Given the description of an element on the screen output the (x, y) to click on. 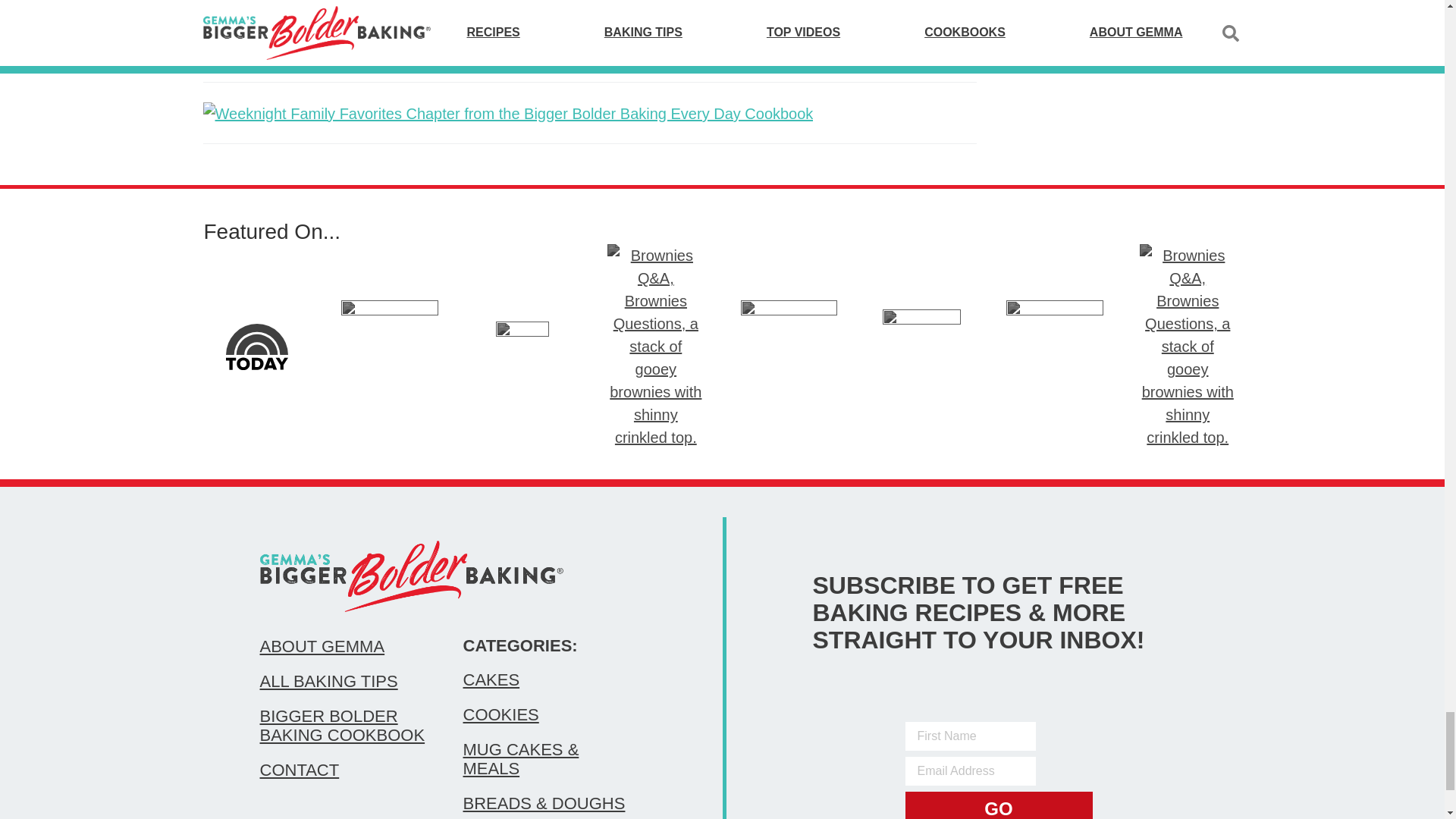
About Gemma (345, 647)
Bigger Bolder Baking Cookbook (345, 725)
All Baking Tips (345, 681)
Contact (345, 770)
